Given the description of an element on the screen output the (x, y) to click on. 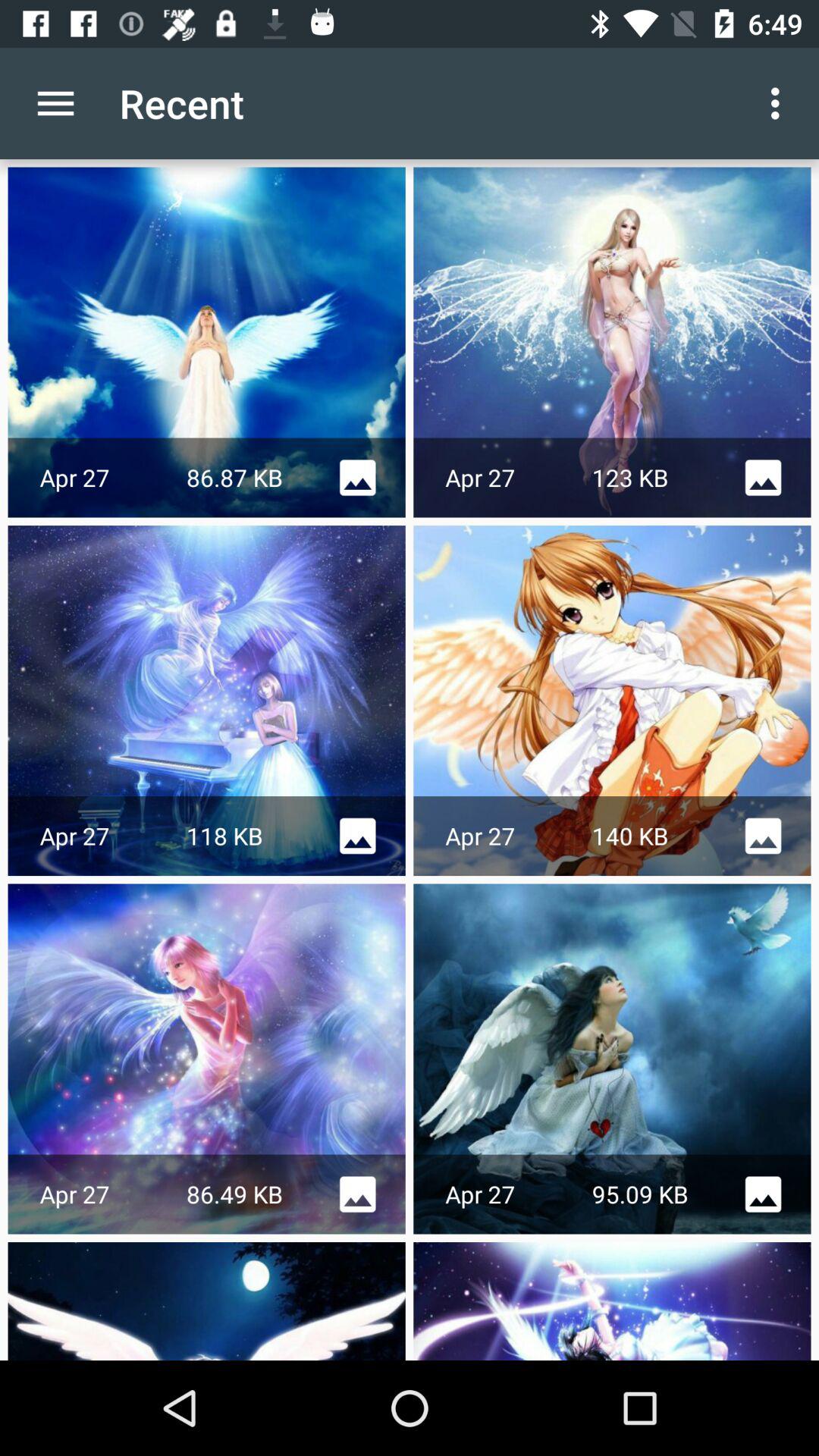
open app to the right of recent icon (779, 103)
